Given the description of an element on the screen output the (x, y) to click on. 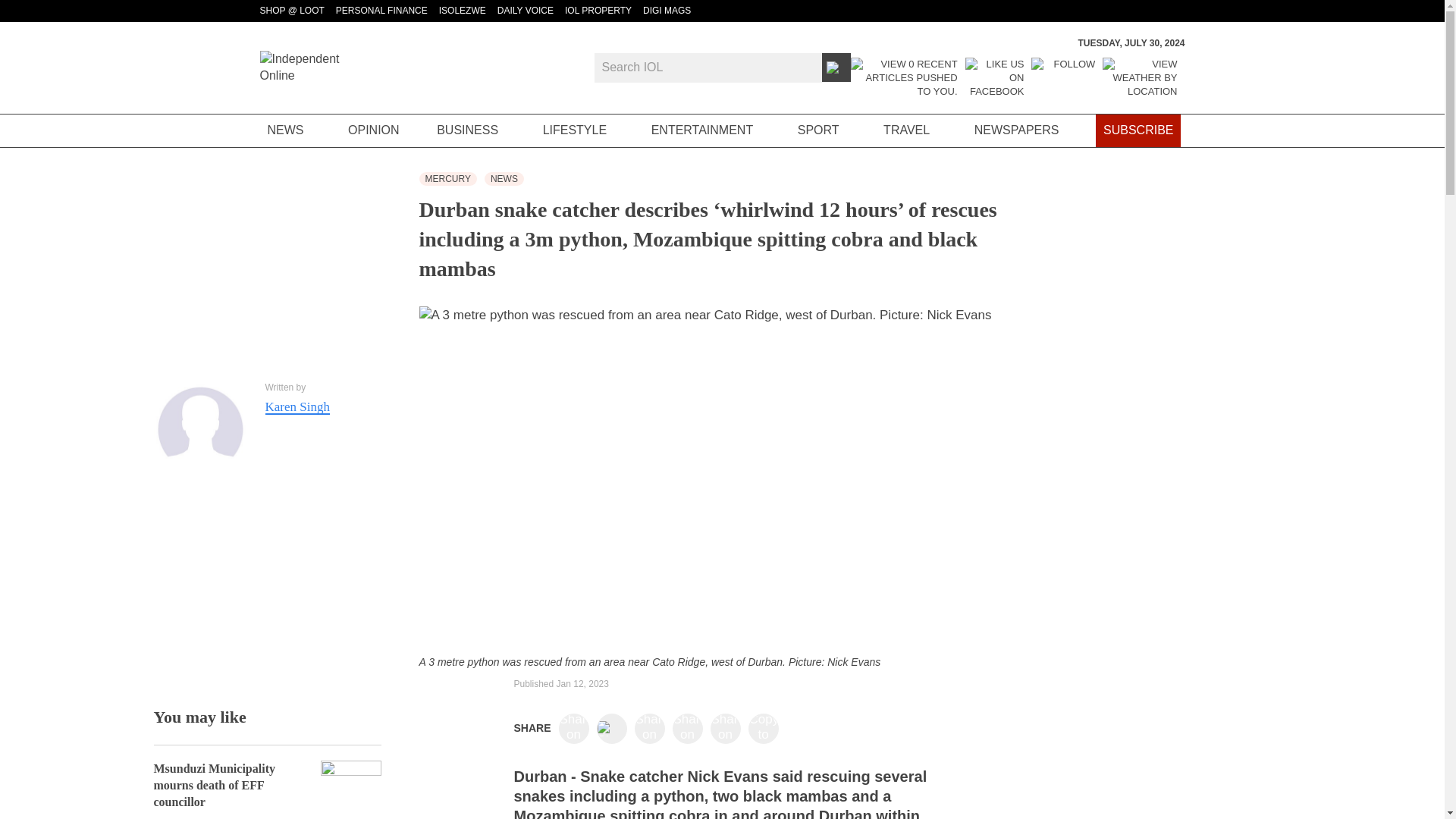
Follow us on Twitter (1062, 78)
Like us on Facebook (995, 78)
Share on Twitter (611, 728)
